Given the description of an element on the screen output the (x, y) to click on. 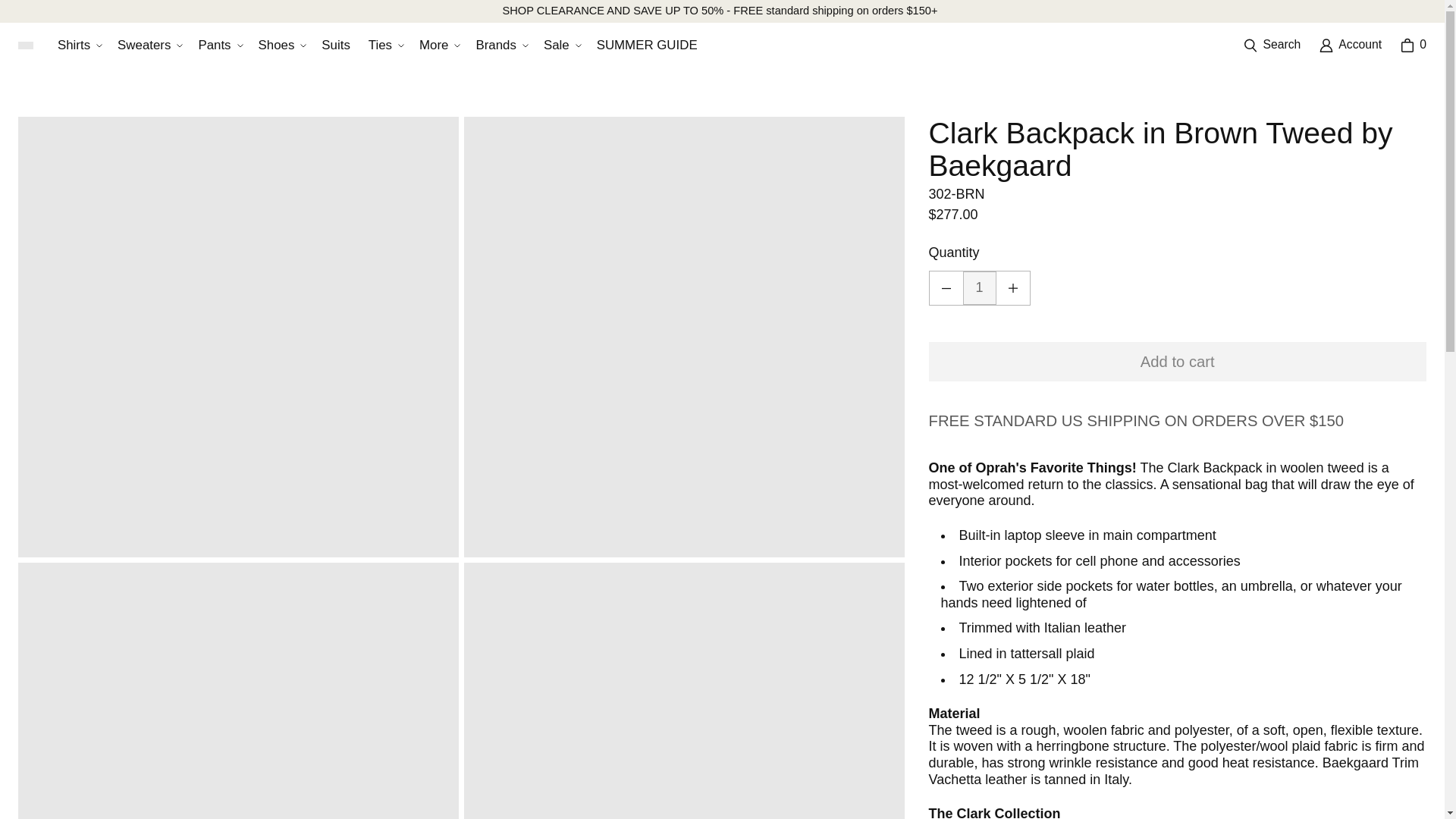
1 (978, 287)
Suits (335, 45)
